Given the description of an element on the screen output the (x, y) to click on. 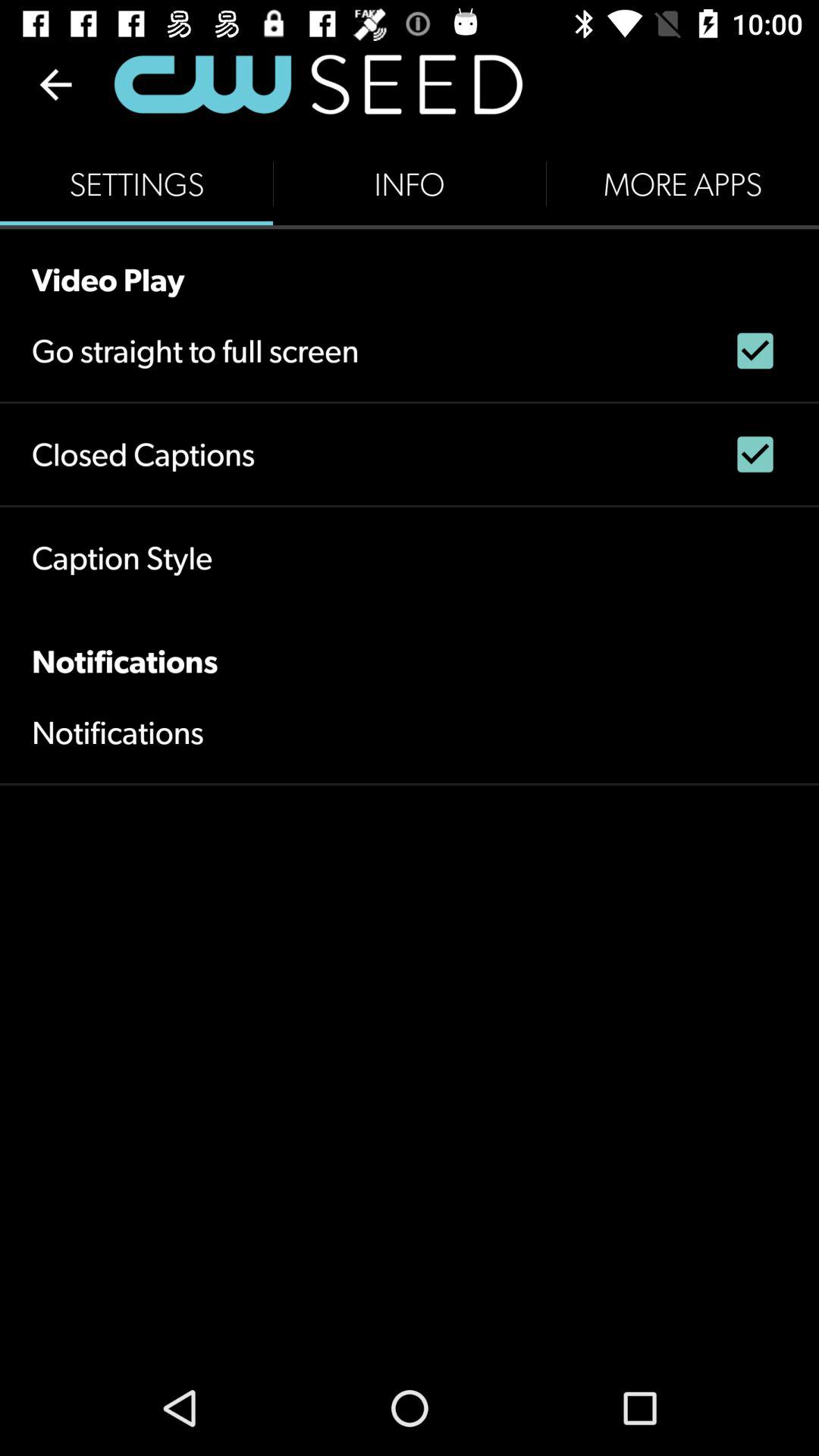
open item below the video play item (194, 350)
